Given the description of an element on the screen output the (x, y) to click on. 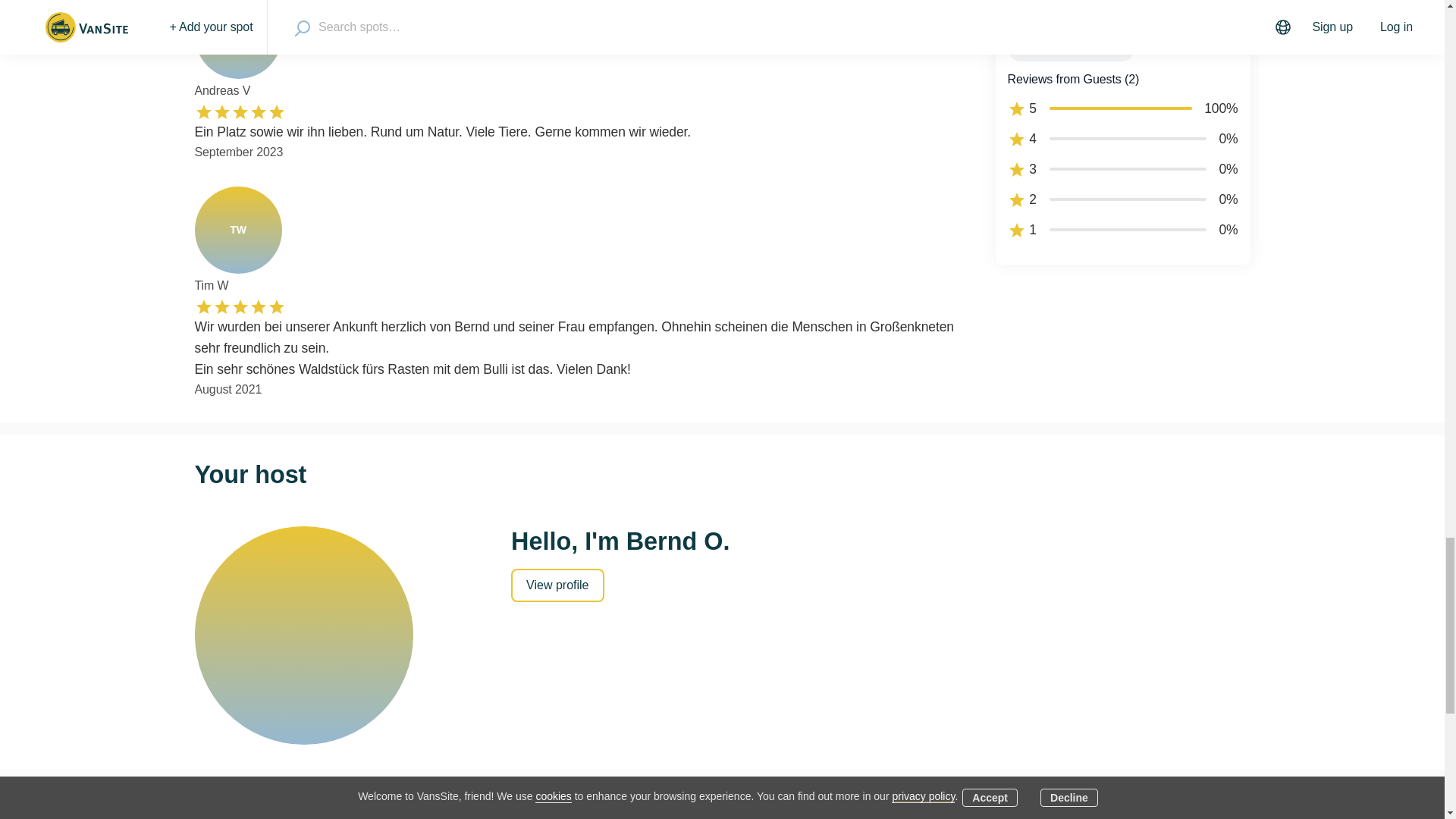
Tim W (237, 229)
Andreas V (237, 39)
View profile (557, 584)
View profile (557, 584)
TW (237, 229)
Bernd O (302, 635)
